Given the description of an element on the screen output the (x, y) to click on. 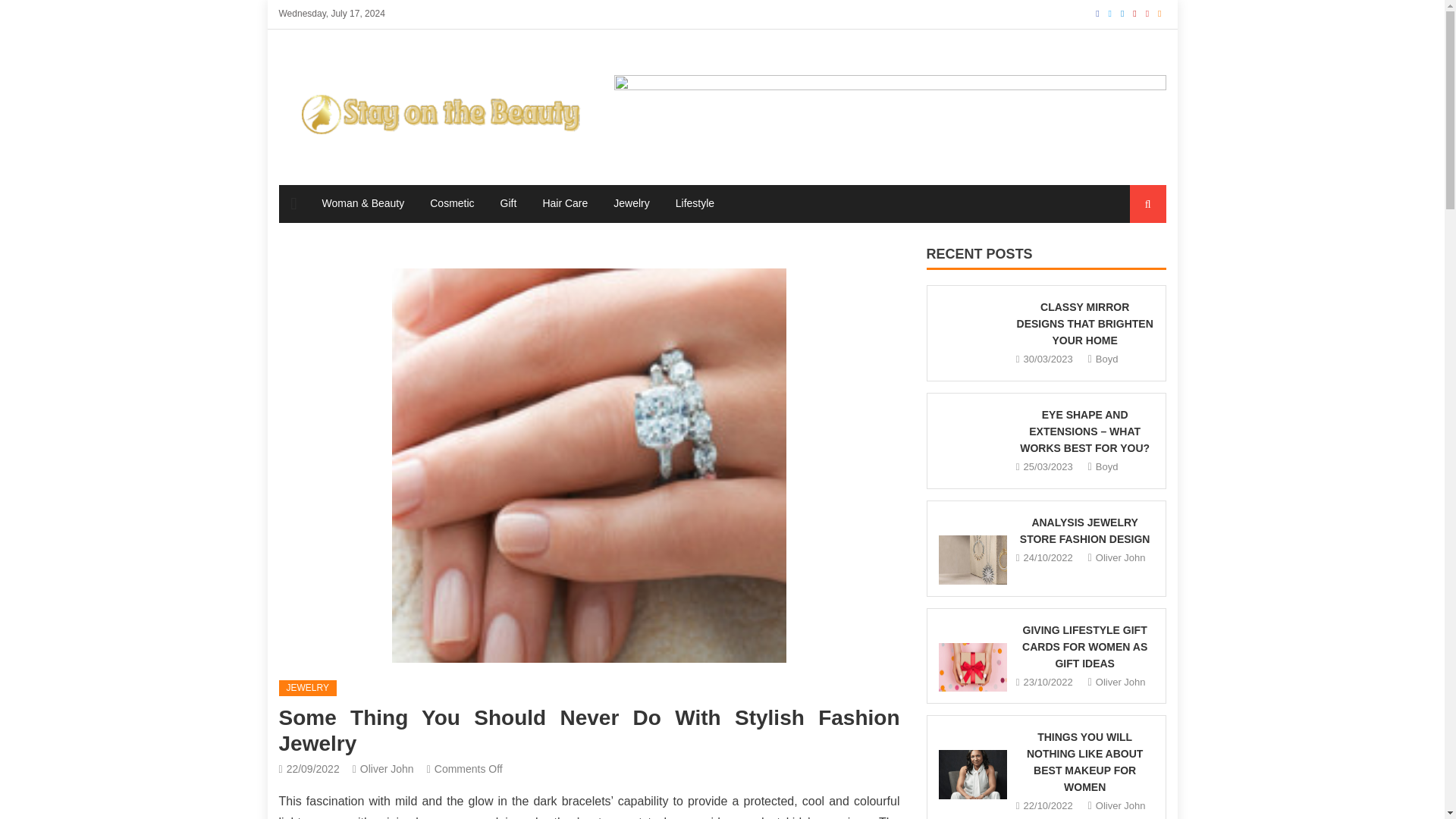
JEWELRY (307, 688)
Search (1133, 260)
Giving Lifestyle Gift Cards for Women As Gift ideas (973, 655)
Hair Care (564, 203)
Oliver John (386, 768)
Analysis Jewelry Store Fashion Design (973, 559)
Classy Mirror Designs That Brighten Your Home (973, 333)
Classy Mirror Designs That Brighten Your Home (973, 344)
Analysis Jewelry Store Fashion Design (973, 548)
Gift (508, 203)
Jewelry (631, 203)
Cosmetic (451, 203)
Lifestyle (694, 203)
